Given the description of an element on the screen output the (x, y) to click on. 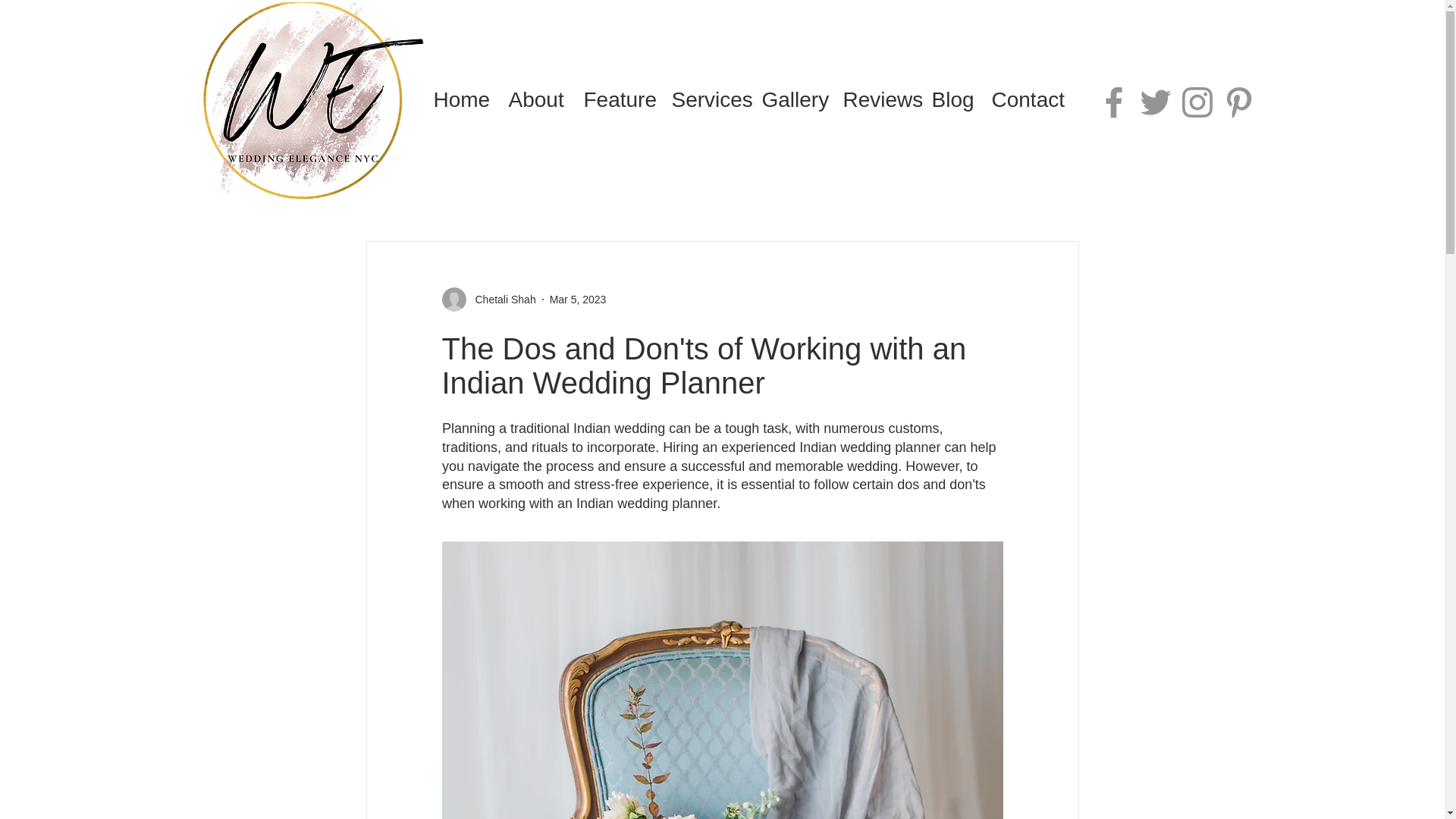
Reviews (875, 99)
Contact (1025, 99)
Home (459, 99)
Services (704, 99)
Mar 5, 2023 (578, 298)
Gallery (791, 99)
About (534, 99)
Feature (615, 99)
Blog (949, 99)
Chetali Shah (500, 299)
